Given the description of an element on the screen output the (x, y) to click on. 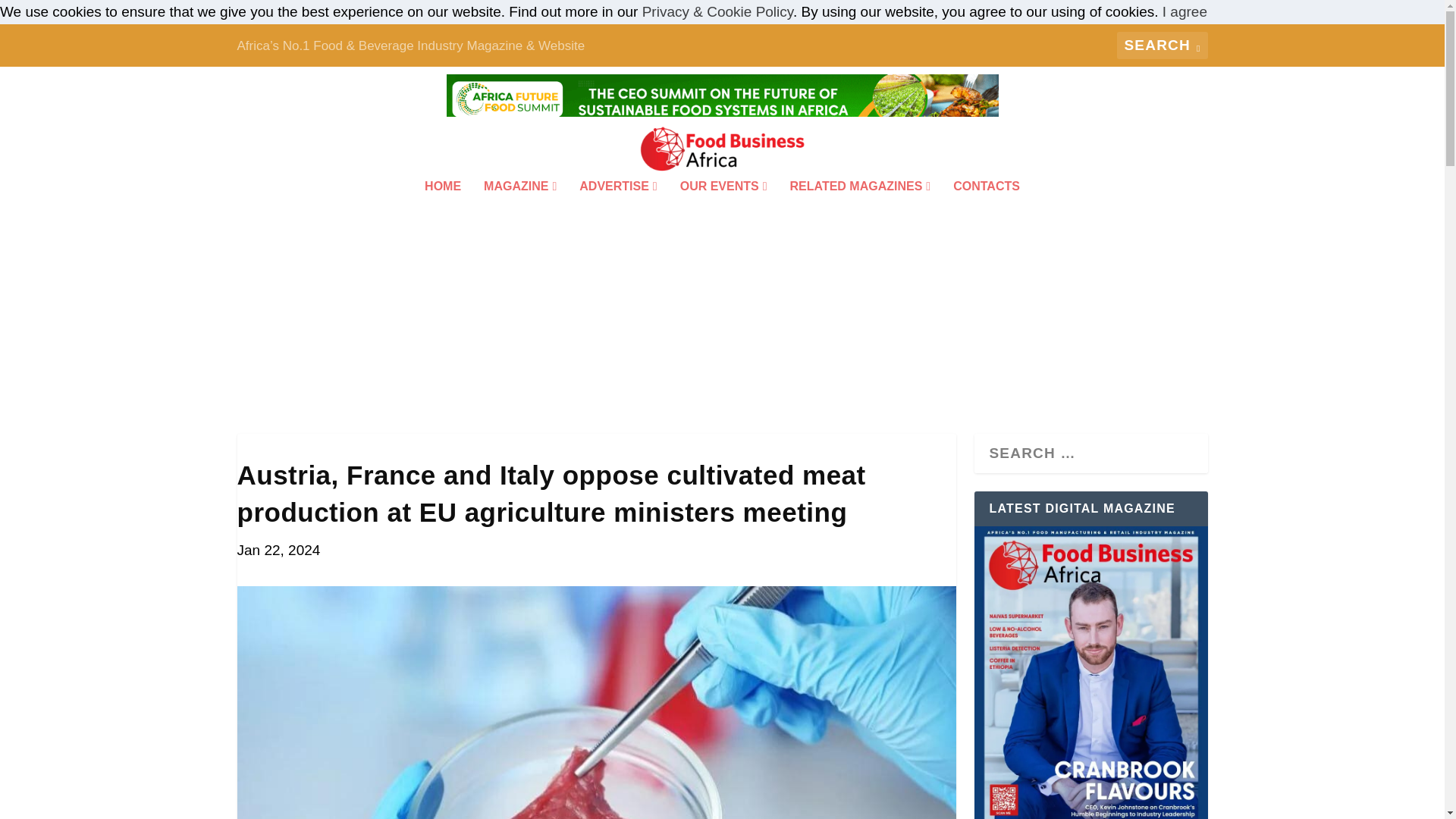
MAGAZINE (519, 206)
RELATED MAGAZINES (860, 206)
ADVERTISE (617, 206)
OUR EVENTS (723, 206)
CONTACTS (986, 206)
Search for: (1161, 44)
I agree (1184, 11)
